Given the description of an element on the screen output the (x, y) to click on. 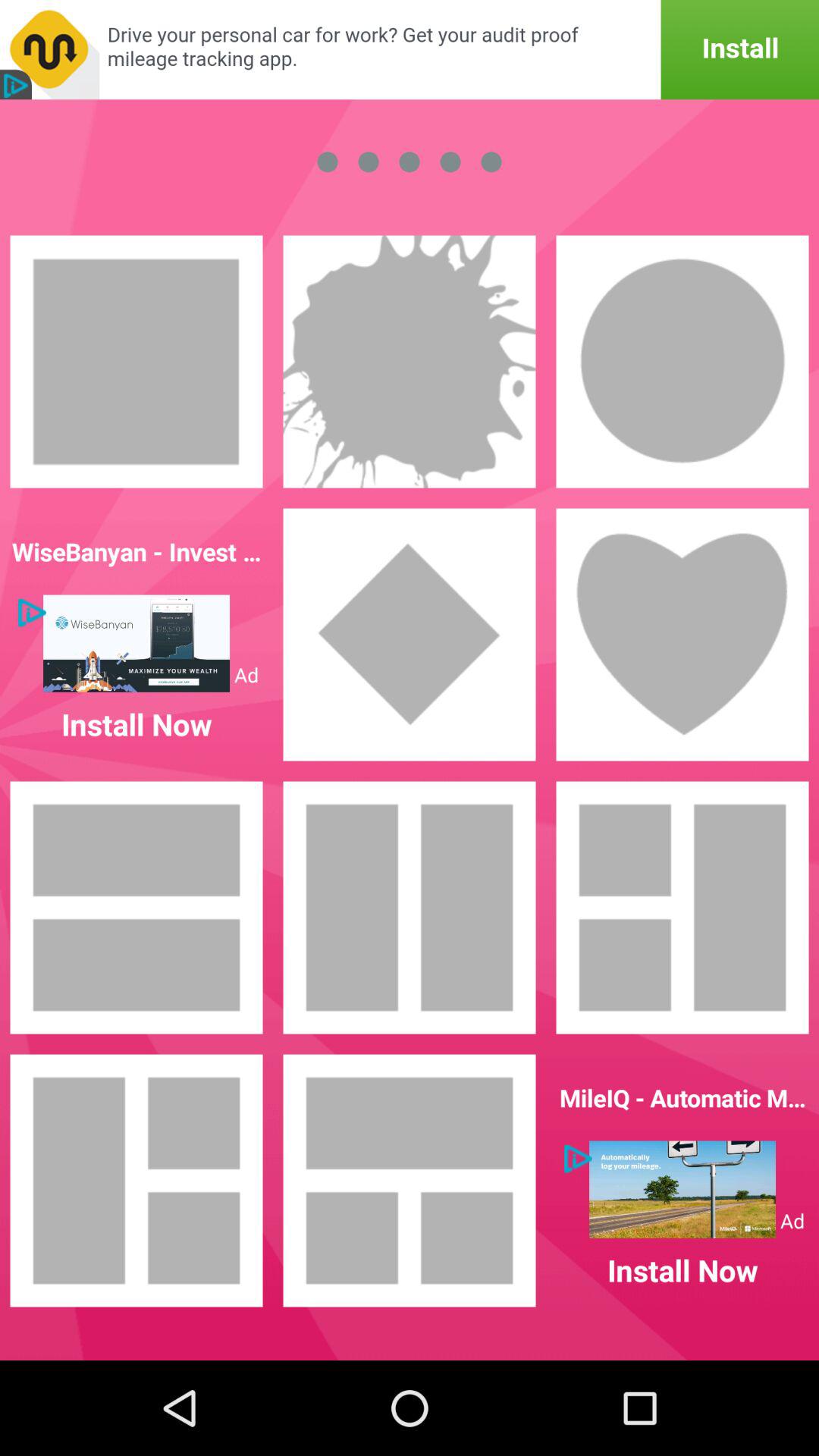
click for rectangular potrait (136, 361)
